Given the description of an element on the screen output the (x, y) to click on. 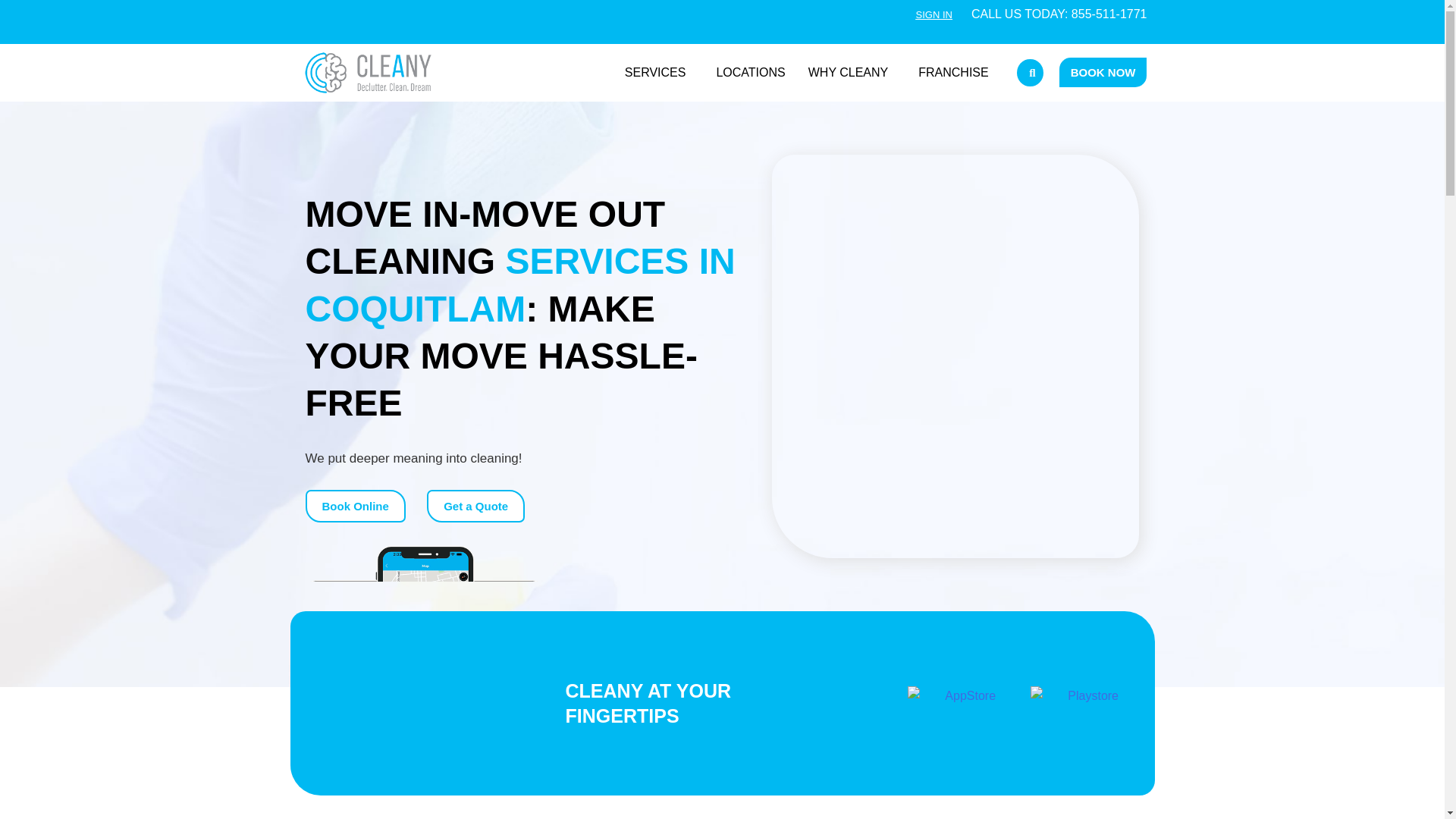
LOCATIONS (750, 72)
Get a Quote (475, 505)
Book Online (354, 505)
WHY CLEANY (851, 72)
BOOK NOW (1103, 71)
FRANCHISE (952, 72)
Move In-Move Out Cleaning Services 4 (1087, 703)
SERVICES (658, 72)
Move In-Move Out Cleaning Services 2 (423, 661)
